Given the description of an element on the screen output the (x, y) to click on. 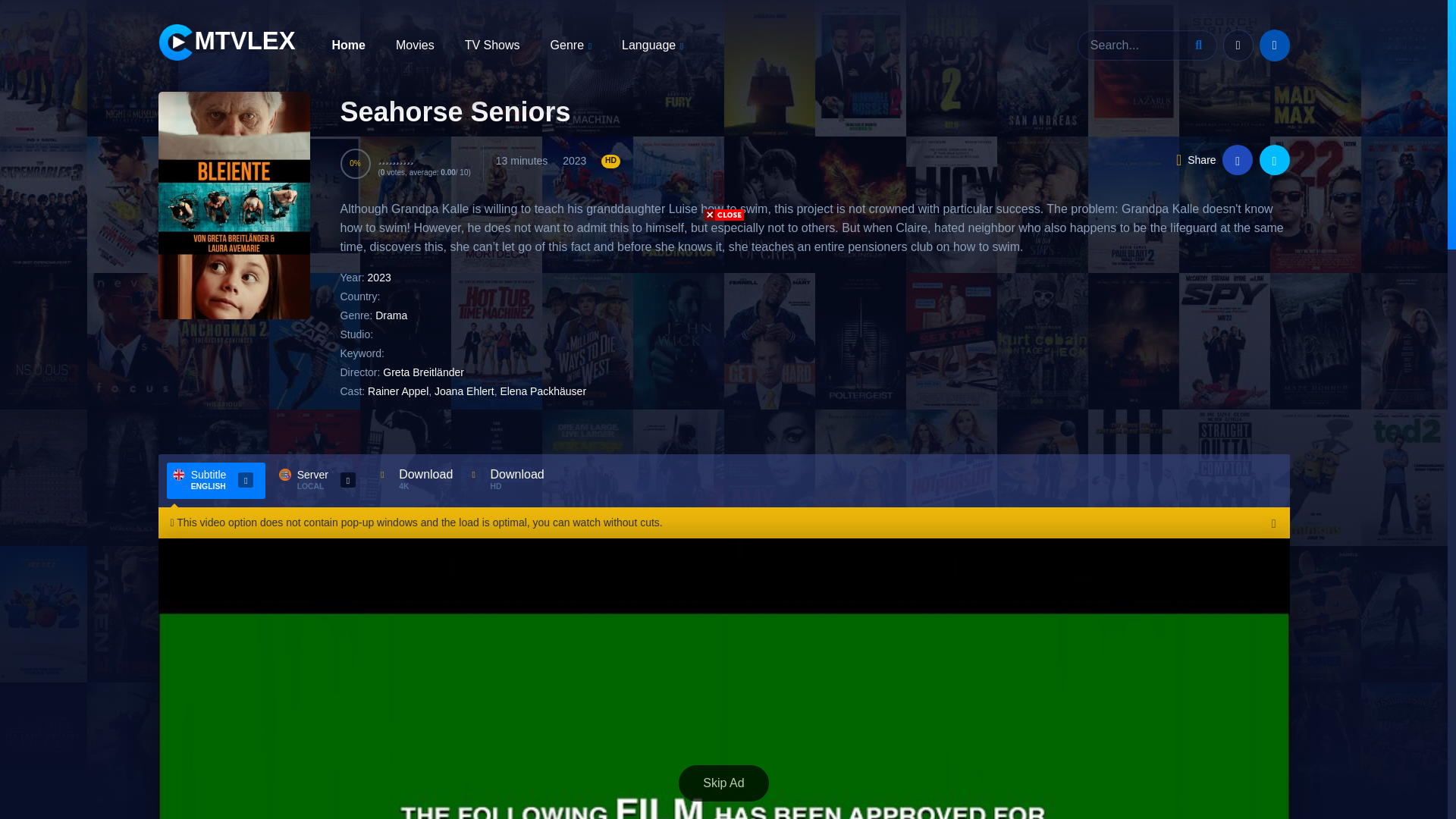
TV Shows (491, 44)
Home (348, 44)
Series (491, 44)
Register (1274, 45)
Genre (570, 45)
Language (651, 45)
Login (1238, 45)
search (1201, 45)
Home (348, 44)
Movies (414, 44)
Movies (414, 44)
